Given the description of an element on the screen output the (x, y) to click on. 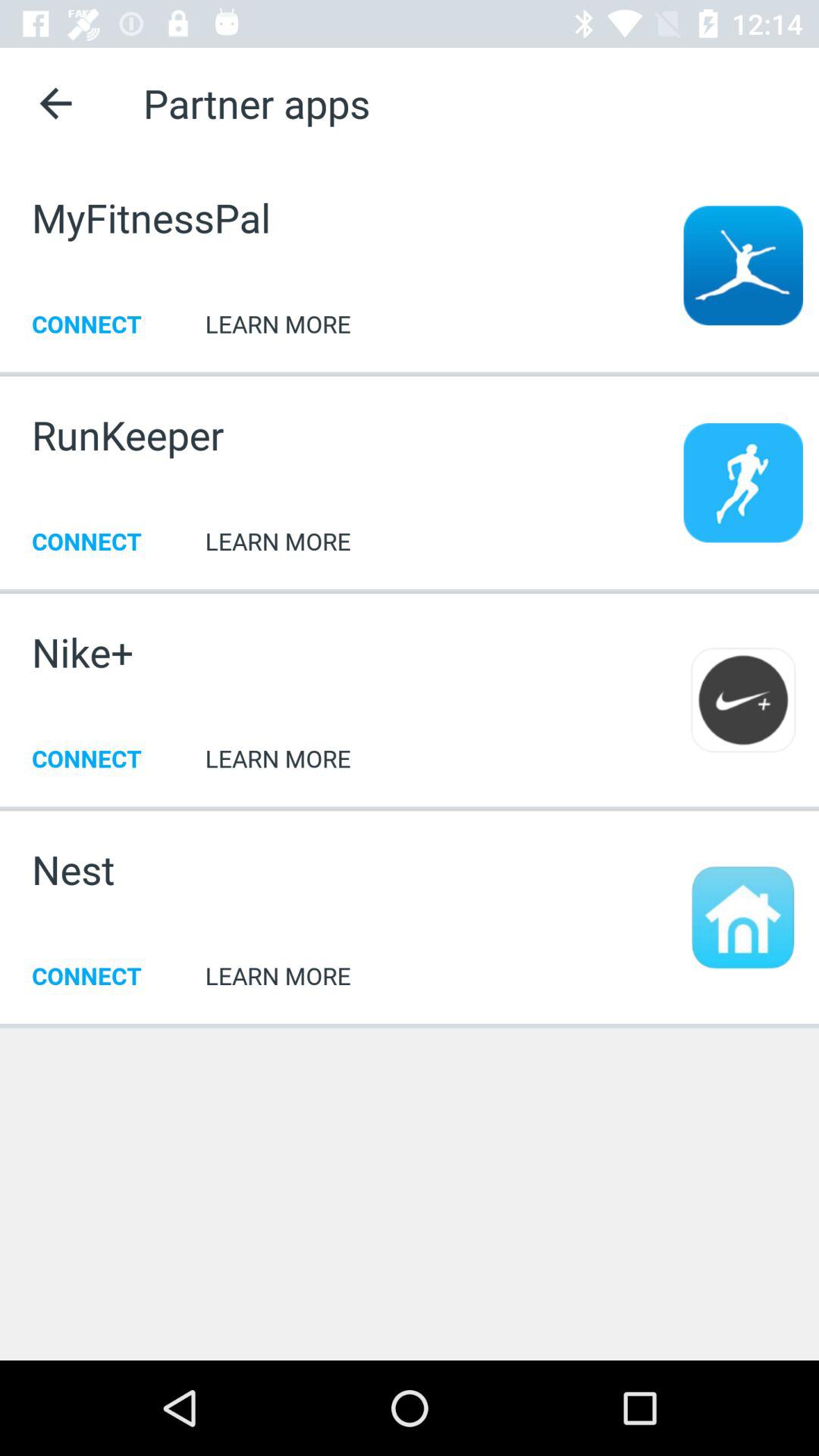
choose nest item (73, 869)
